Given the description of an element on the screen output the (x, y) to click on. 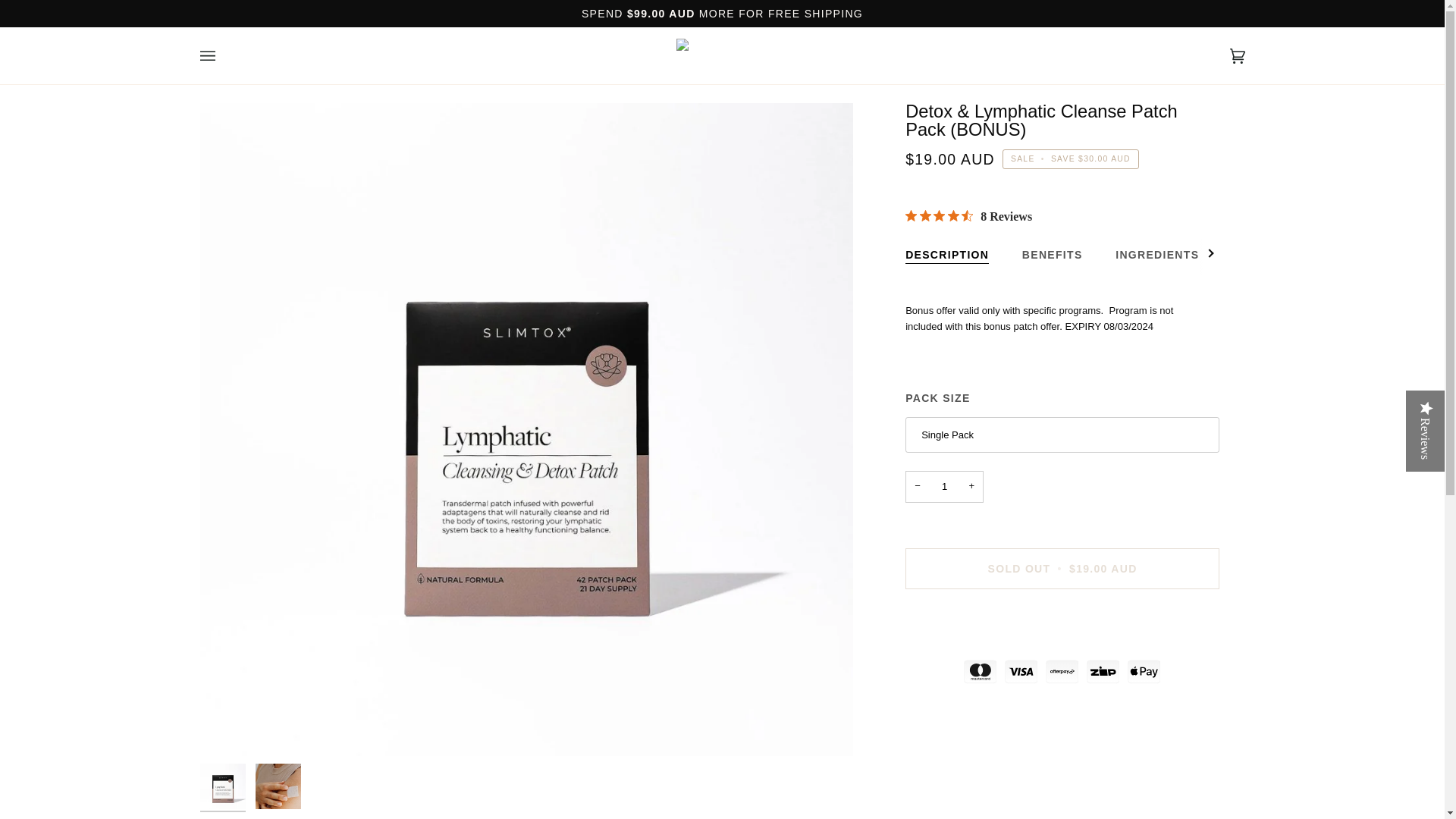
DESCRIPTION (946, 251)
trust-badges-widget (1062, 667)
PATCH INFO (1268, 251)
8 Reviews (968, 216)
BENEFITS (1052, 251)
1 (944, 486)
INGREDIENTS (1156, 251)
